Given the description of an element on the screen output the (x, y) to click on. 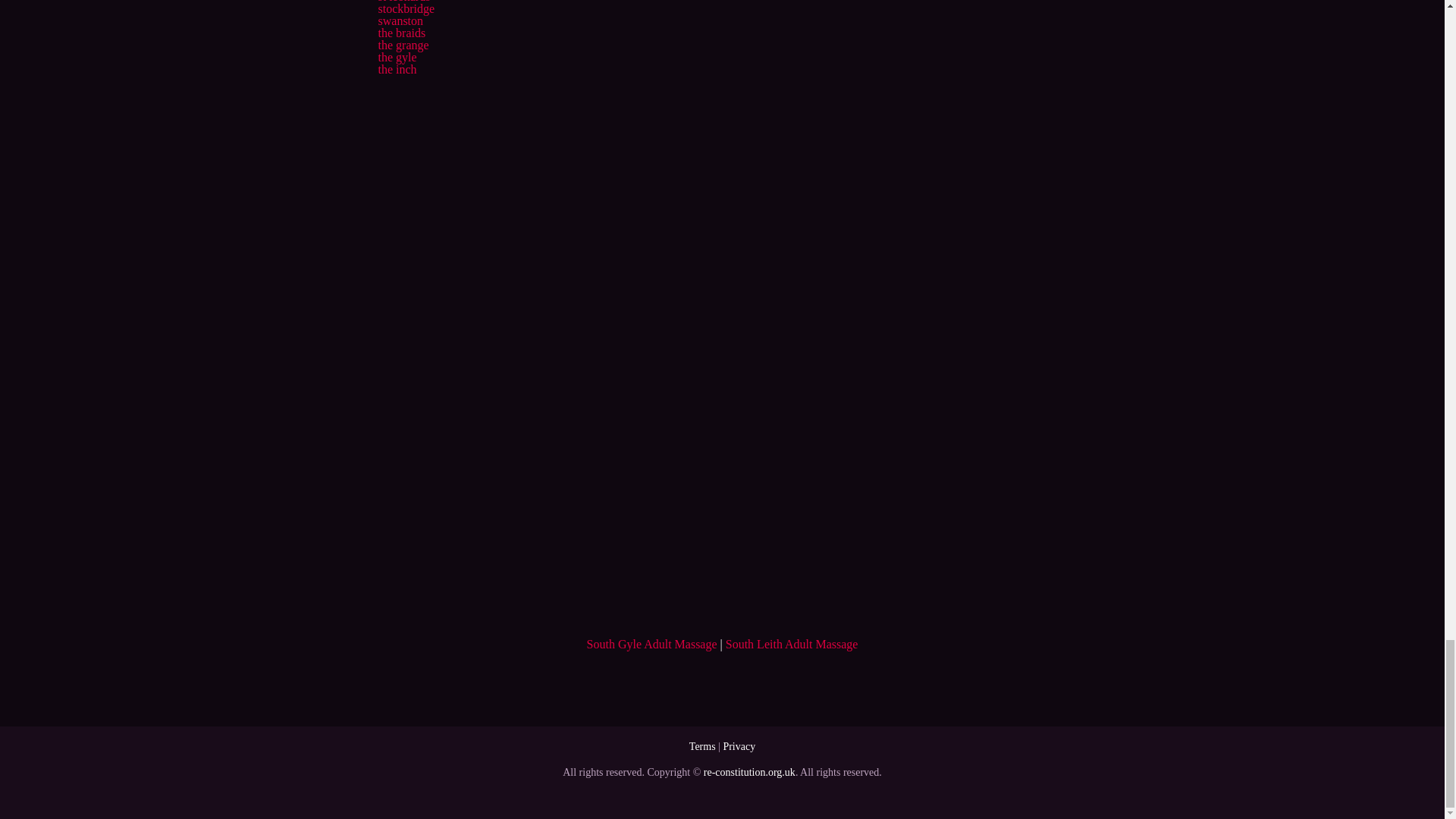
the grange (402, 44)
stockbridge (405, 8)
the braids (401, 32)
Privacy (738, 746)
South Leith Adult Massage (792, 644)
Terms (702, 746)
the gyle (396, 56)
re-constitution.org.uk (748, 772)
Privacy (738, 746)
Terms (702, 746)
South Gyle Adult Massage (651, 644)
st leonards (403, 1)
the inch (396, 69)
swanston (400, 20)
